Given the description of an element on the screen output the (x, y) to click on. 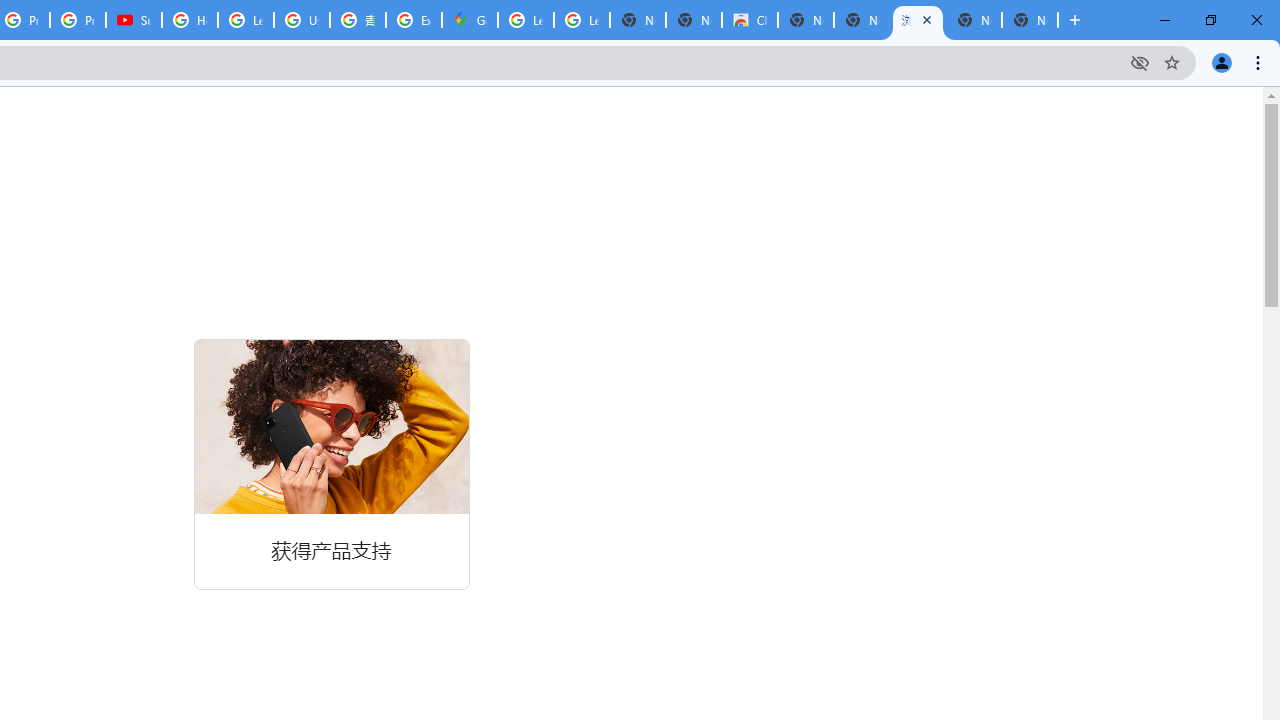
Google Maps (469, 20)
Explore new street-level details - Google Maps Help (413, 20)
